Given the description of an element on the screen output the (x, y) to click on. 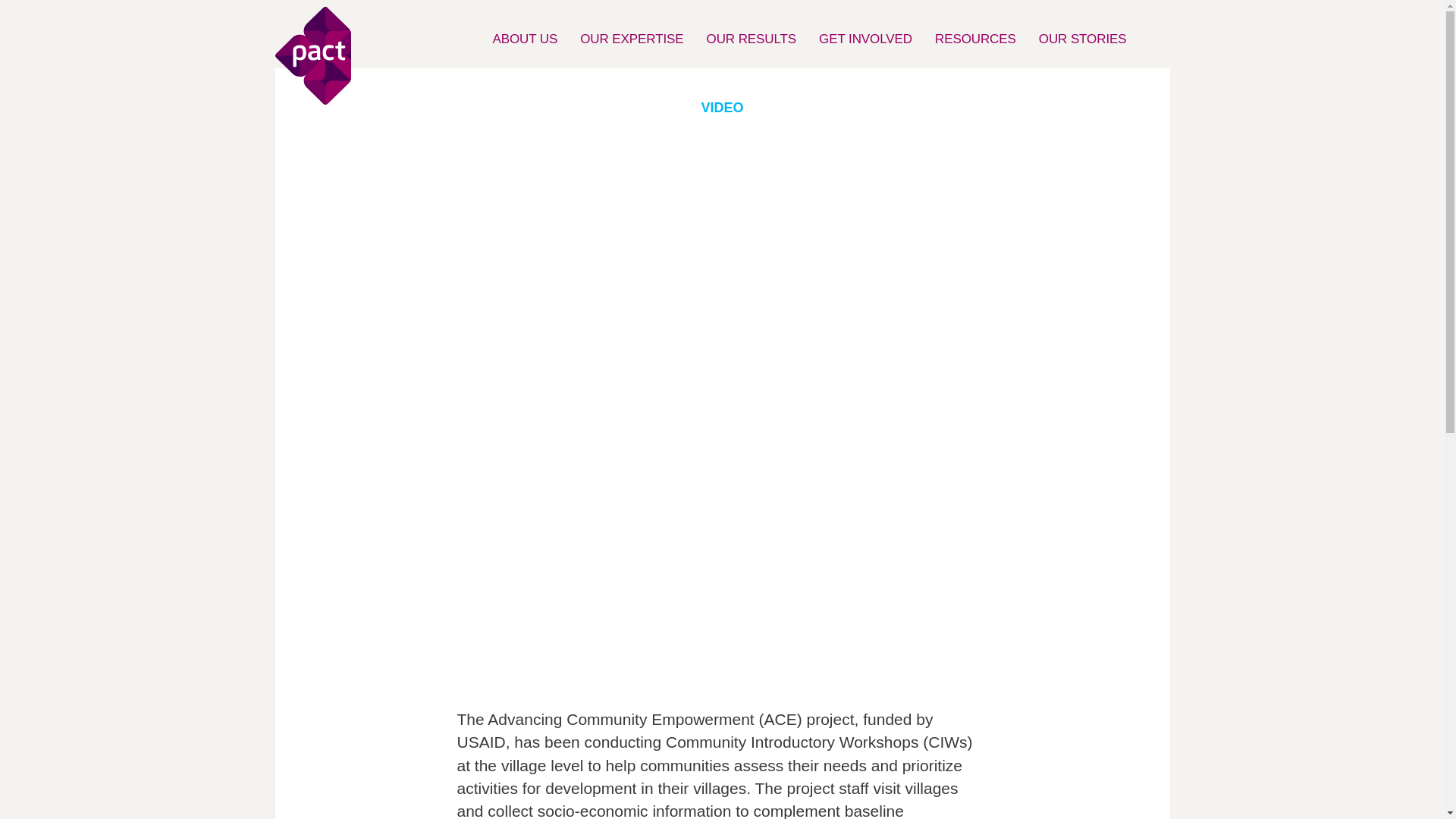
OUR STORIES (1082, 38)
OUR EXPERTISE (631, 38)
OUR RESULTS (751, 38)
